Given the description of an element on the screen output the (x, y) to click on. 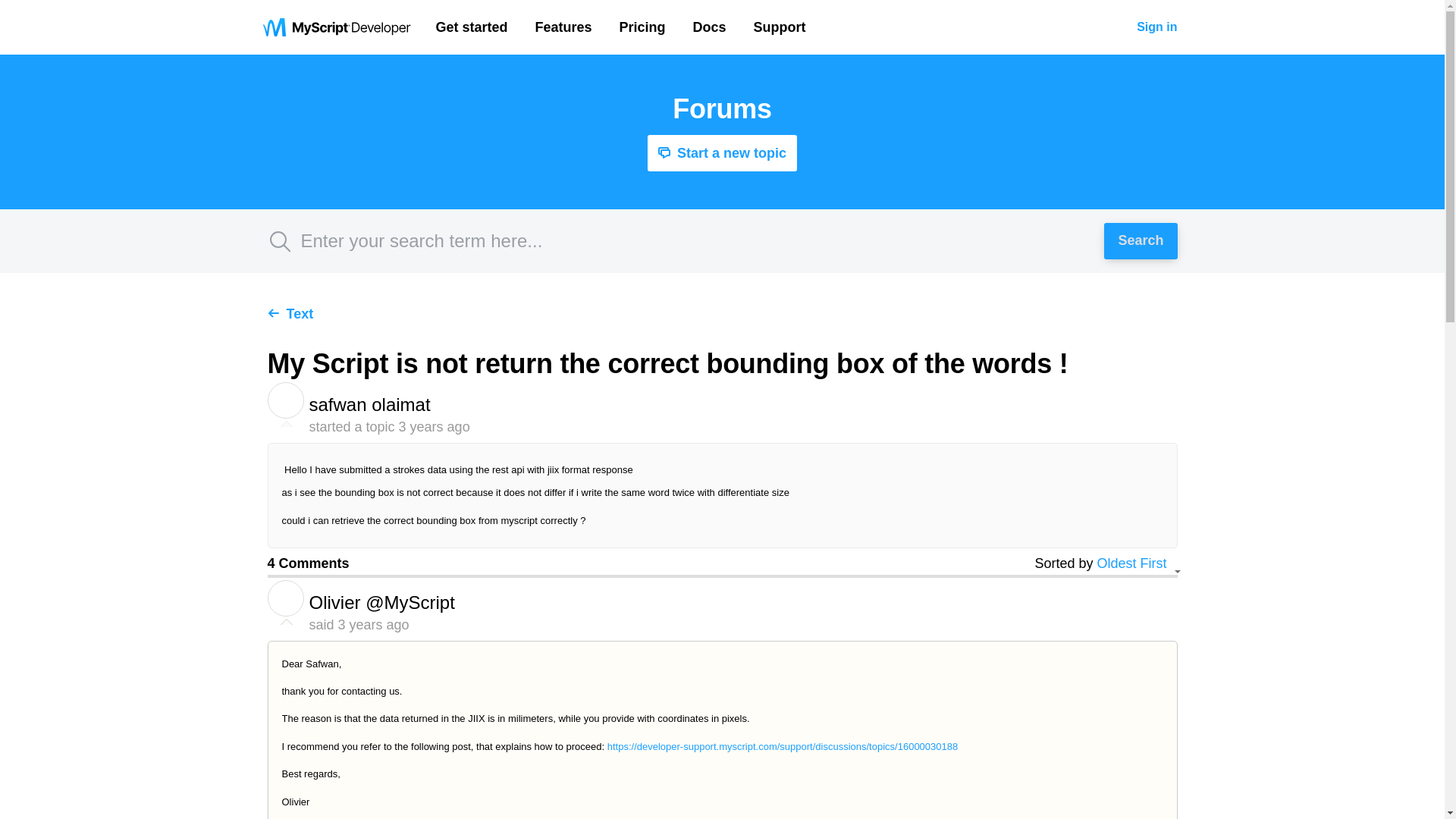
Wed, 10 Mar, 2021 at  9:25 AM (373, 624)
Start a new topic (721, 153)
Search (1139, 240)
Features (563, 26)
Tue, 9 Mar, 2021 at  8:49 PM (434, 426)
Sign in (1156, 26)
Docs (709, 26)
Pricing (641, 26)
Support (779, 26)
Get started (471, 26)
Text (289, 313)
Oldest First (1136, 563)
